Given the description of an element on the screen output the (x, y) to click on. 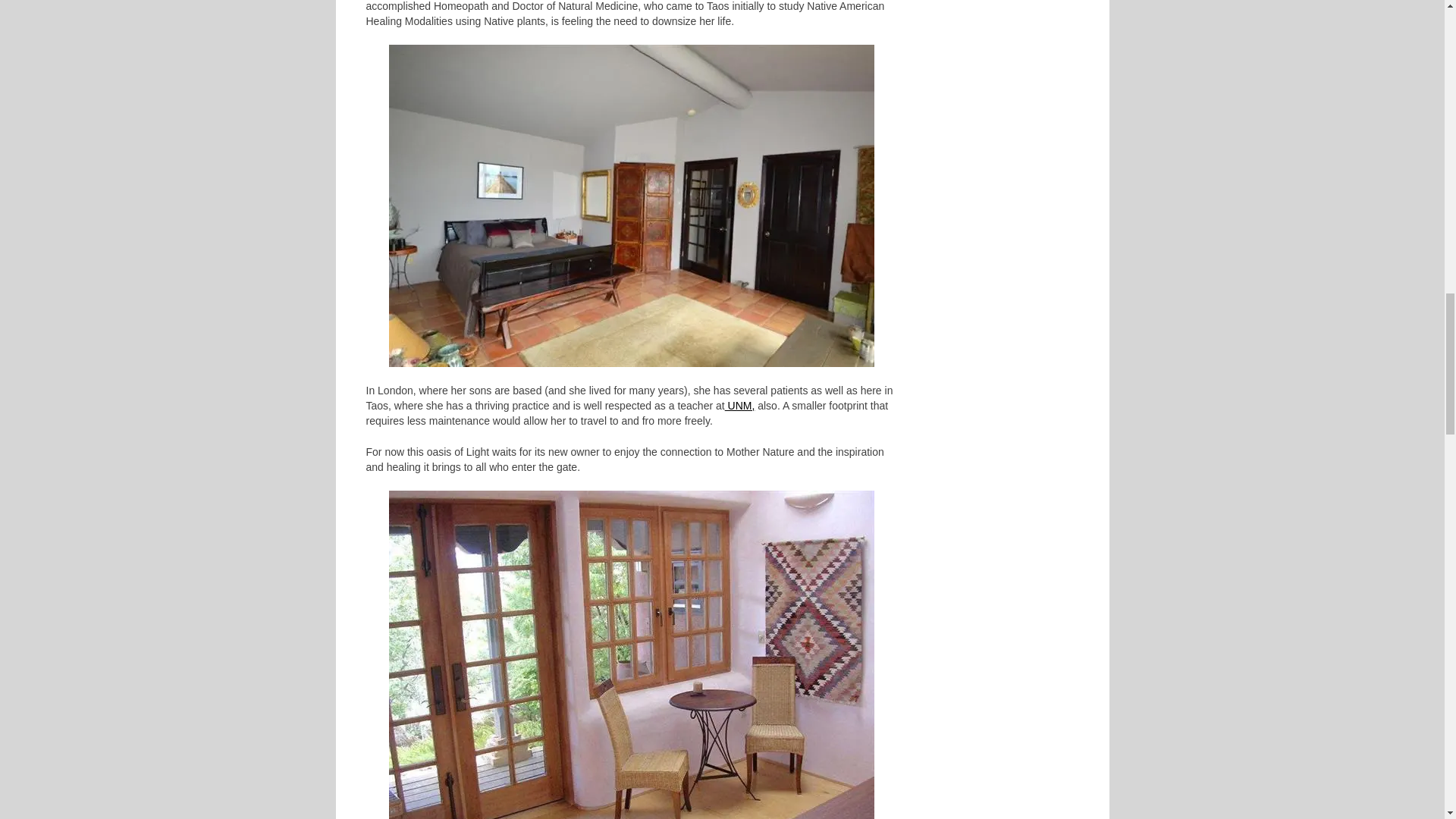
UNM, (740, 404)
